Given the description of an element on the screen output the (x, y) to click on. 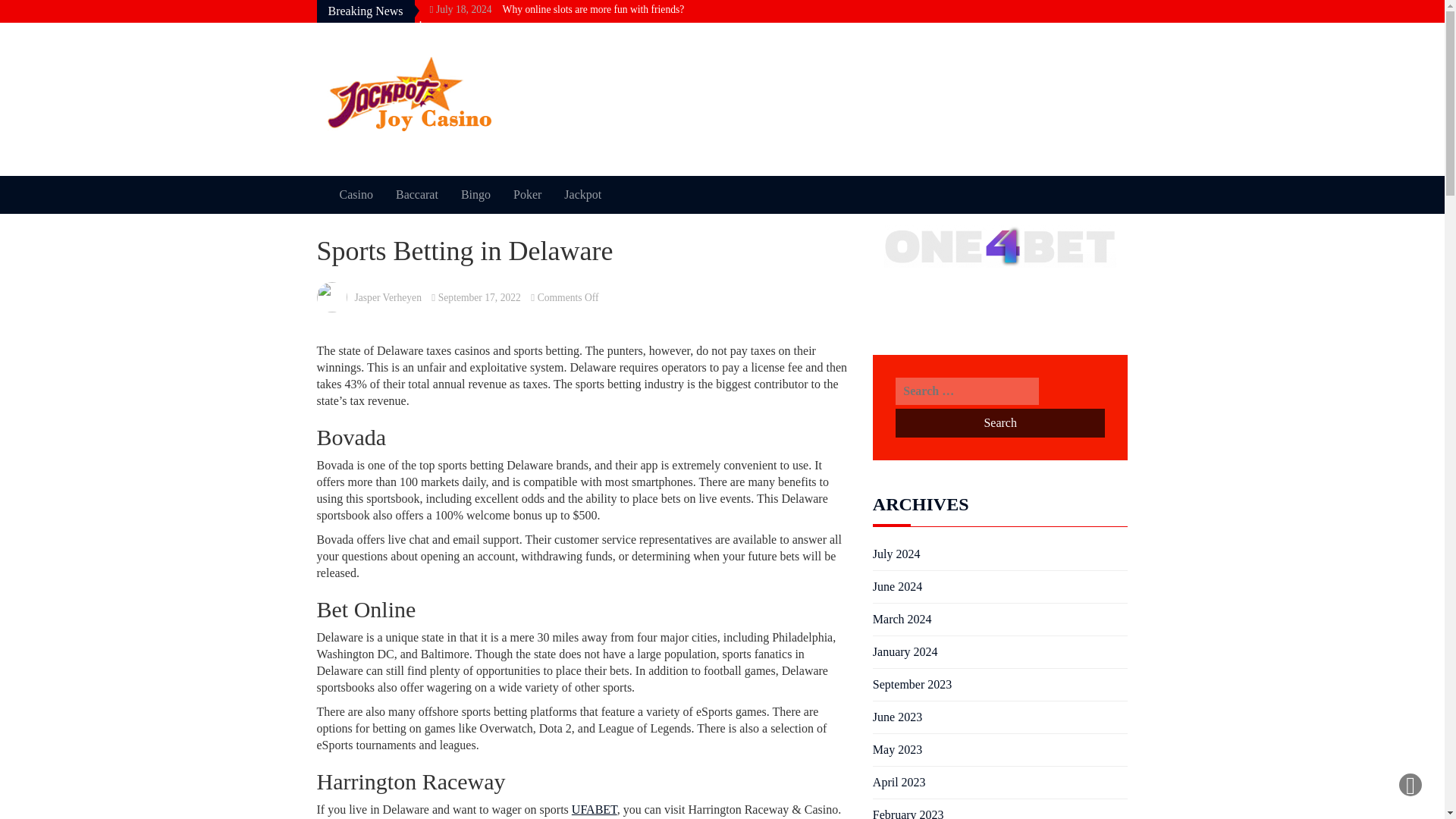
June 2023 (896, 717)
Jackpot (582, 194)
Search (1000, 422)
Bingo (475, 194)
September 2023 (912, 684)
Poker (527, 194)
January 2024 (904, 651)
July 2024 (896, 554)
Casino (355, 194)
June 2024 (896, 586)
